Given the description of an element on the screen output the (x, y) to click on. 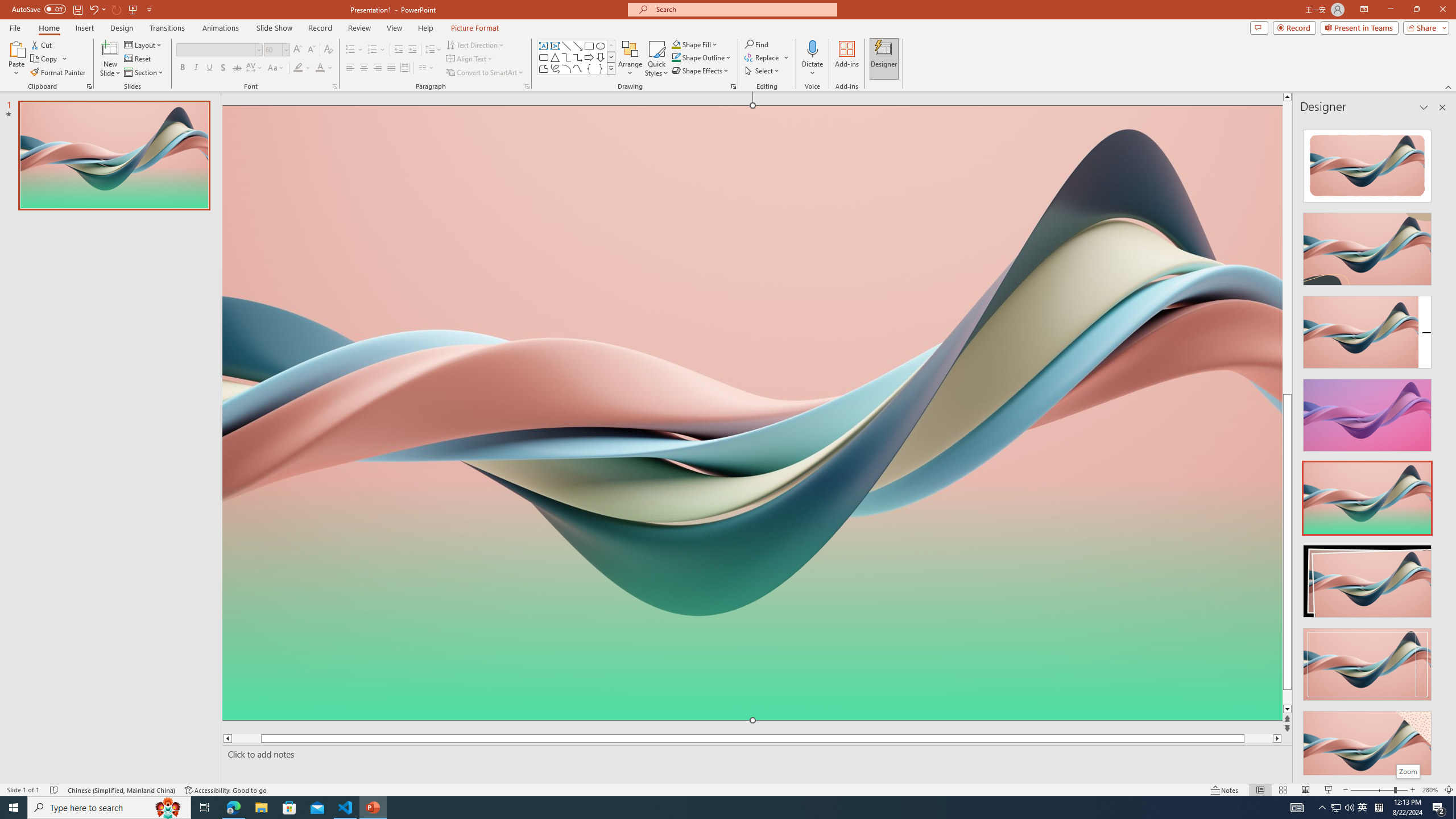
Decorative Locked (752, 579)
Recommended Design: Design Idea (1366, 162)
